Given the description of an element on the screen output the (x, y) to click on. 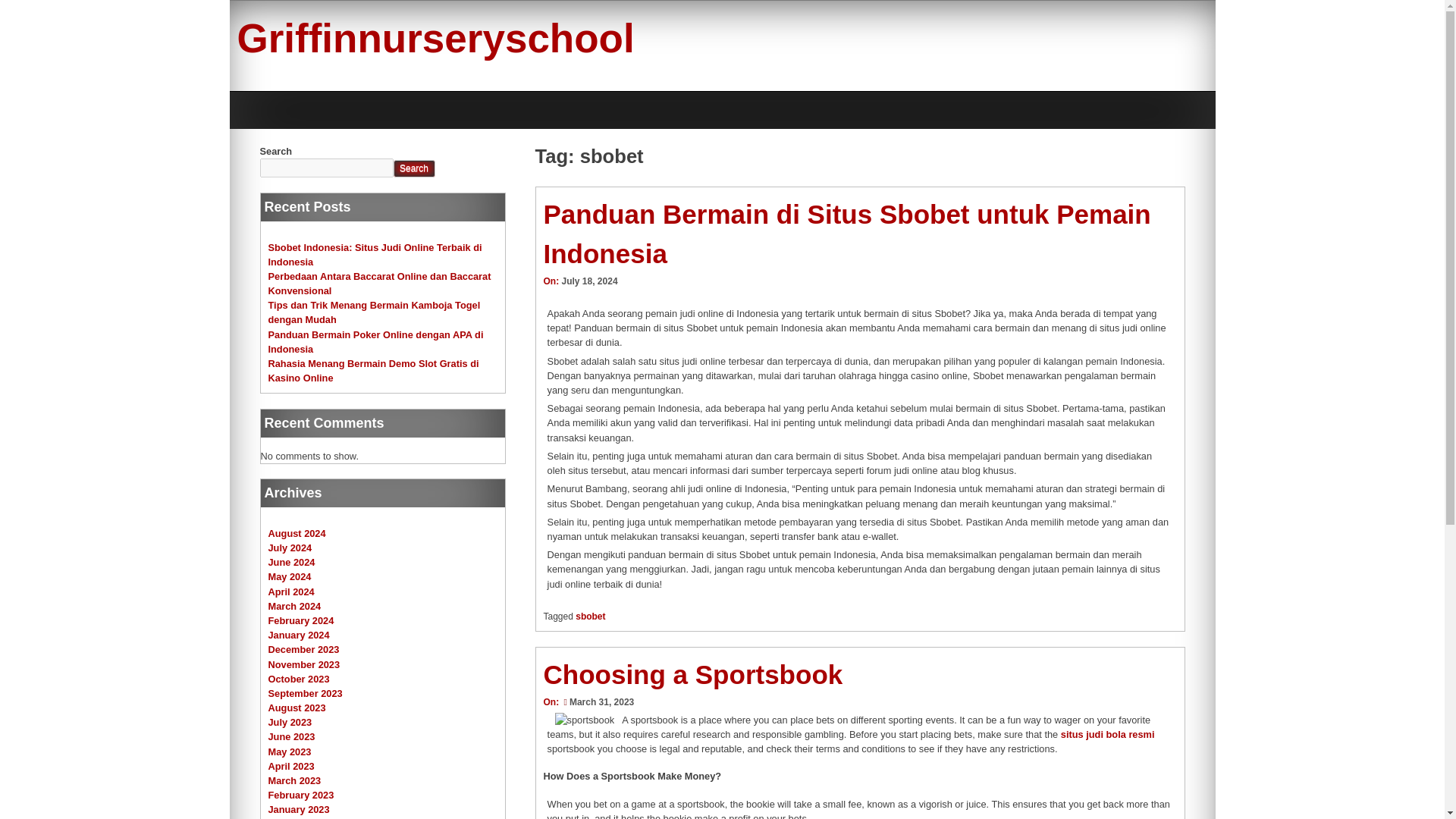
April 2024 (290, 591)
Panduan Bermain di Situs Sbobet untuk Pemain Indonesia (846, 234)
August 2024 (296, 532)
Tips dan Trik Menang Bermain Kamboja Togel dengan Mudah (373, 312)
January 2024 (298, 634)
Perbedaan Antara Baccarat Online dan Baccarat Konvensional (379, 283)
December 2023 (303, 649)
Rahasia Menang Bermain Demo Slot Gratis di Kasino Online (373, 370)
July 2023 (290, 722)
Choosing a Sportsbook (693, 674)
July 2024 (290, 547)
October 2023 (298, 678)
March 31, 2023 (596, 701)
Panduan Bermain Poker Online dengan APA di Indonesia (375, 341)
sbobet (590, 615)
